Given the description of an element on the screen output the (x, y) to click on. 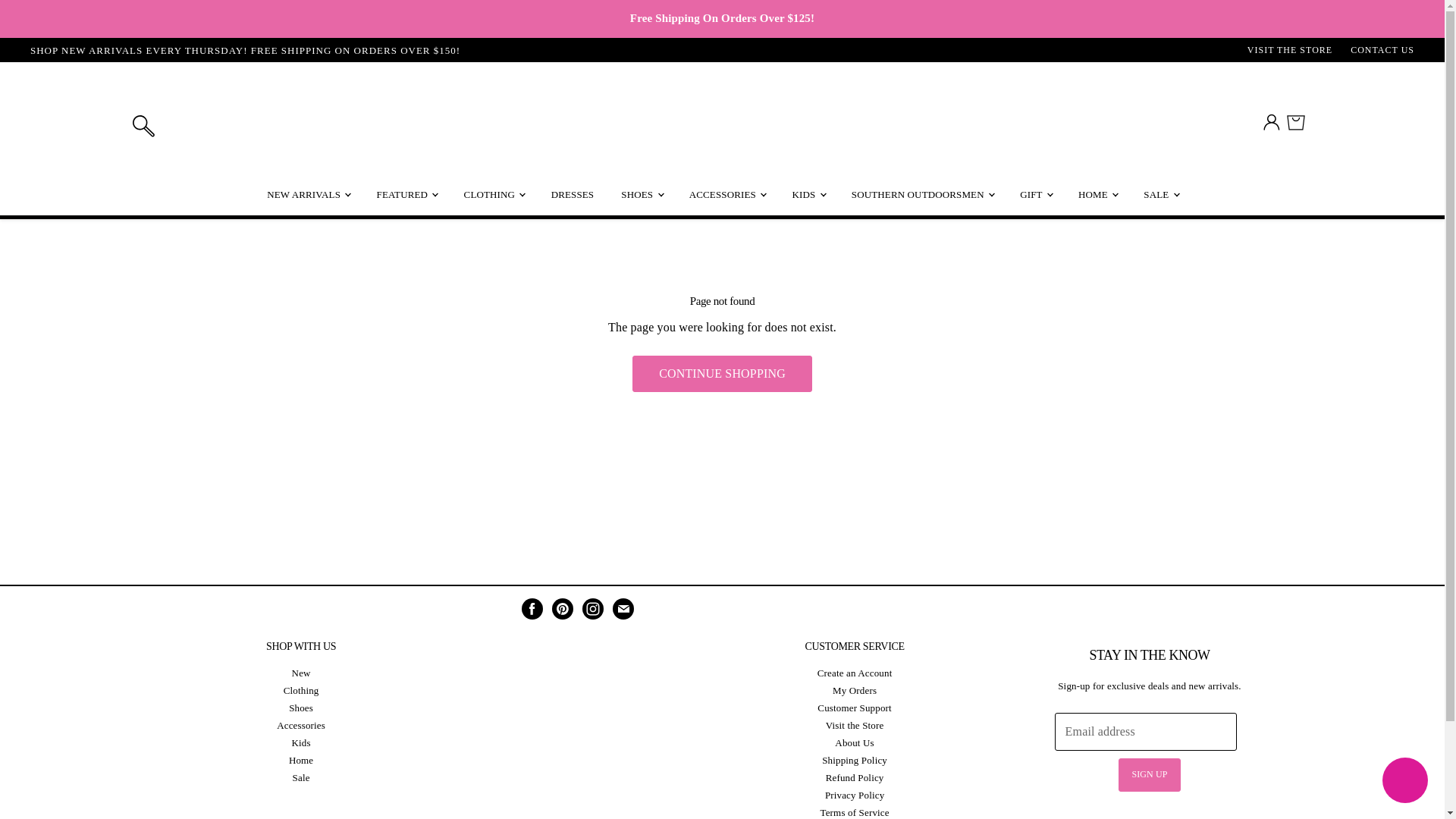
VISIT THE STORE (1289, 50)
FEATURED (406, 194)
NEW ARRIVALS (307, 194)
Pinterest (562, 608)
Search (142, 122)
Facebook (532, 608)
E-mail (623, 608)
Shopify online store chat (1404, 781)
Instagram (593, 608)
CONTACT US (1382, 50)
